Given the description of an element on the screen output the (x, y) to click on. 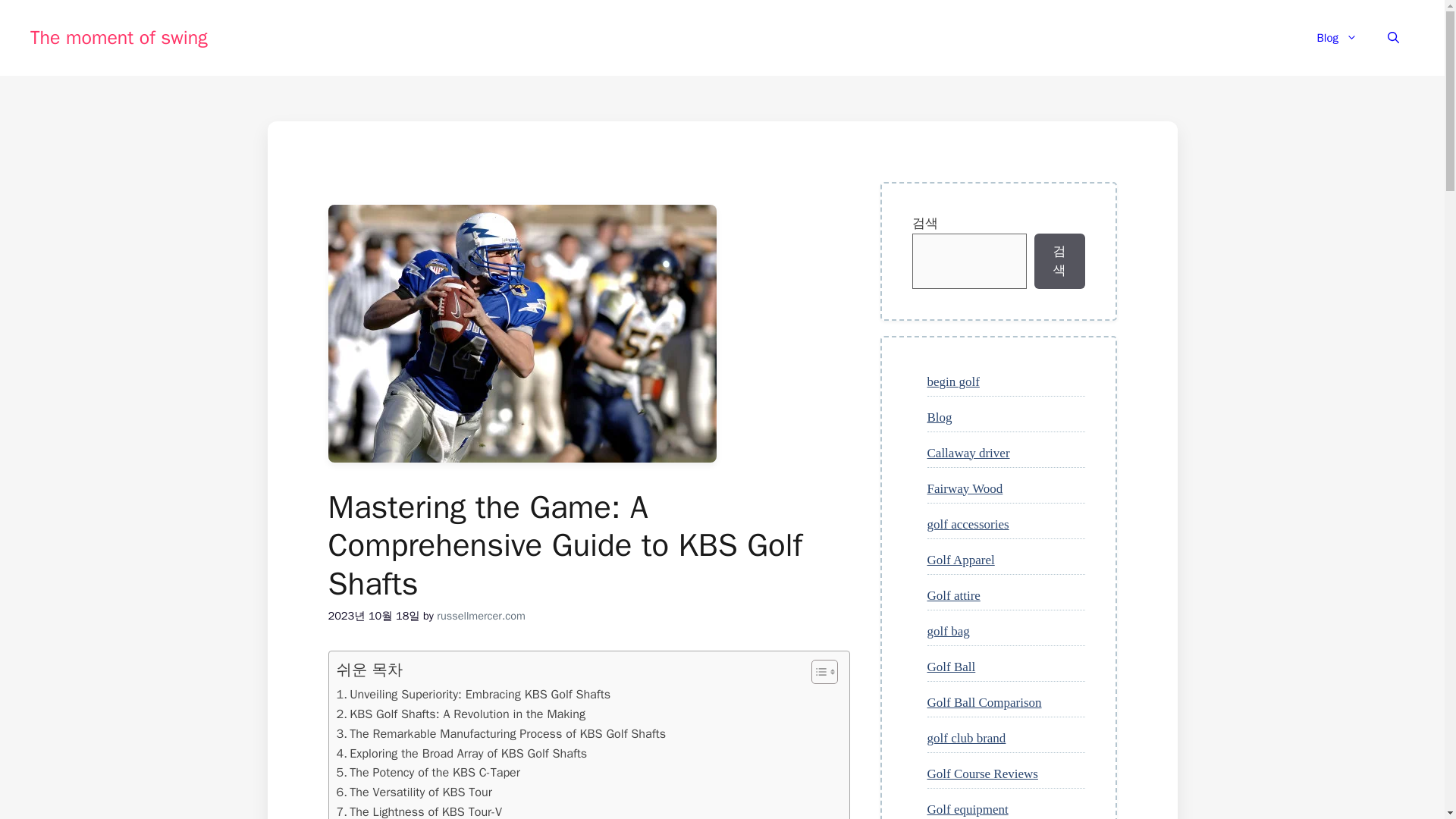
The Lightness of KBS Tour-V (419, 810)
Exploring the Broad Array of KBS Golf Shafts (462, 753)
Blog (939, 416)
Unveiling Superiority: Embracing KBS Golf Shafts (473, 694)
Fairway Wood (964, 487)
KBS Golf Shafts: A Revolution in the Making (461, 713)
The Versatility of KBS Tour (414, 792)
Exploring the Broad Array of KBS Golf Shafts (462, 753)
The moment of swing (119, 37)
The Lightness of KBS Tour-V (419, 810)
russellmercer.com (480, 615)
begin golf (952, 381)
Blog (1337, 37)
The Remarkable Manufacturing Process of KBS Golf Shafts (501, 733)
The Potency of the KBS C-Taper (427, 772)
